Given the description of an element on the screen output the (x, y) to click on. 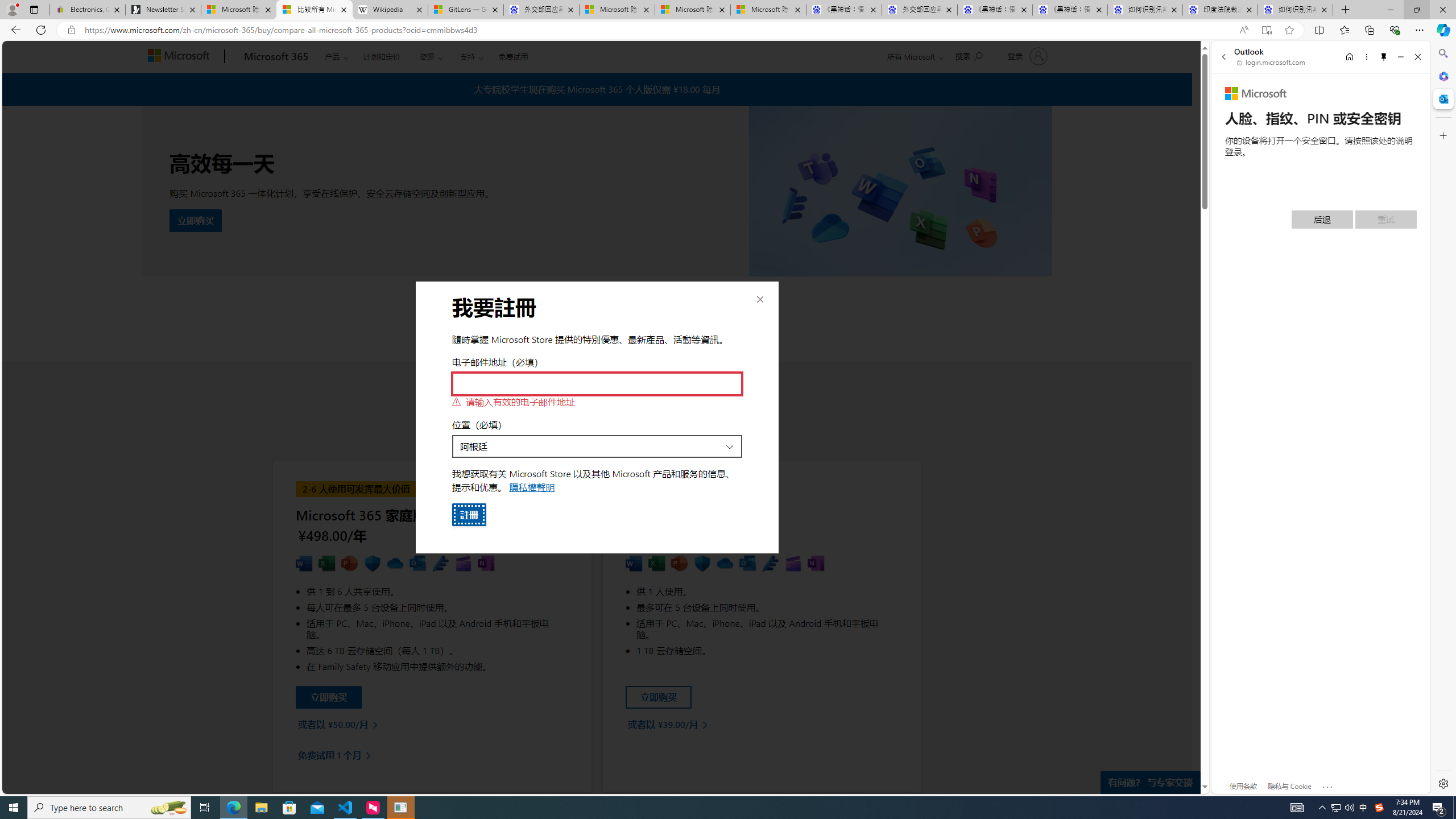
Newsletter Sign Up (162, 9)
